Given the description of an element on the screen output the (x, y) to click on. 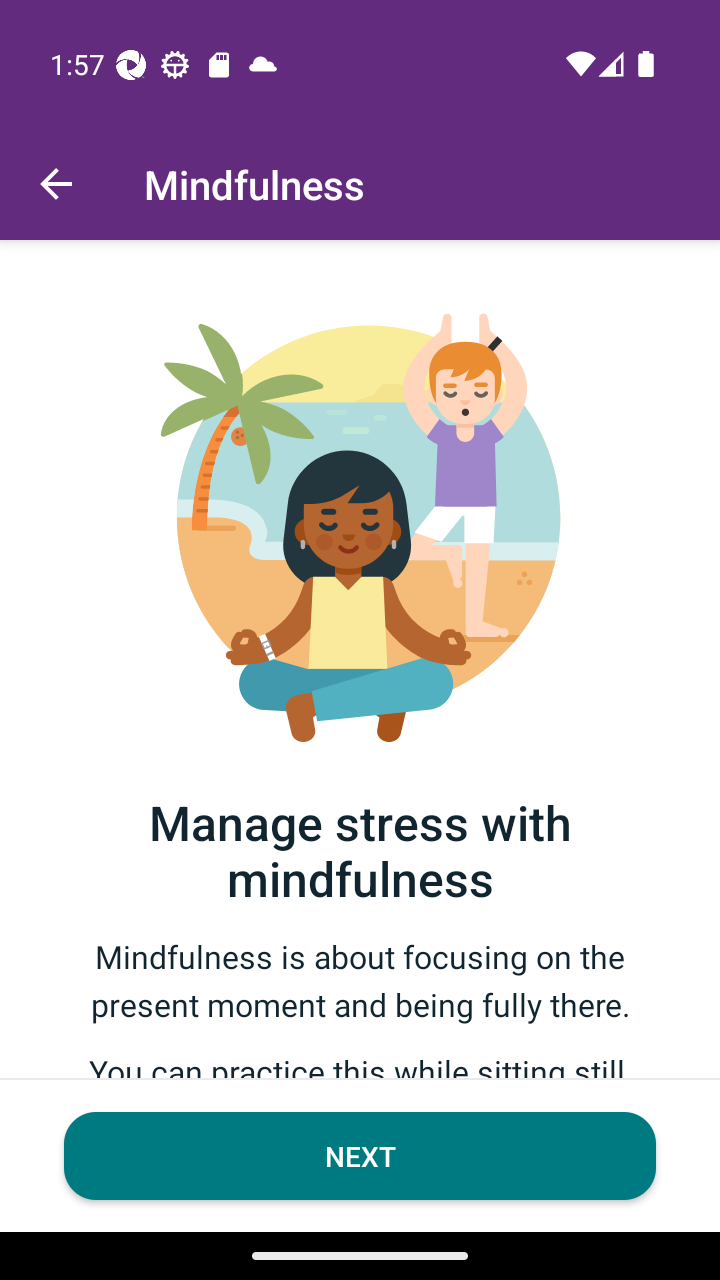
Navigate up (56, 184)
NEXT (359, 1156)
